Given the description of an element on the screen output the (x, y) to click on. 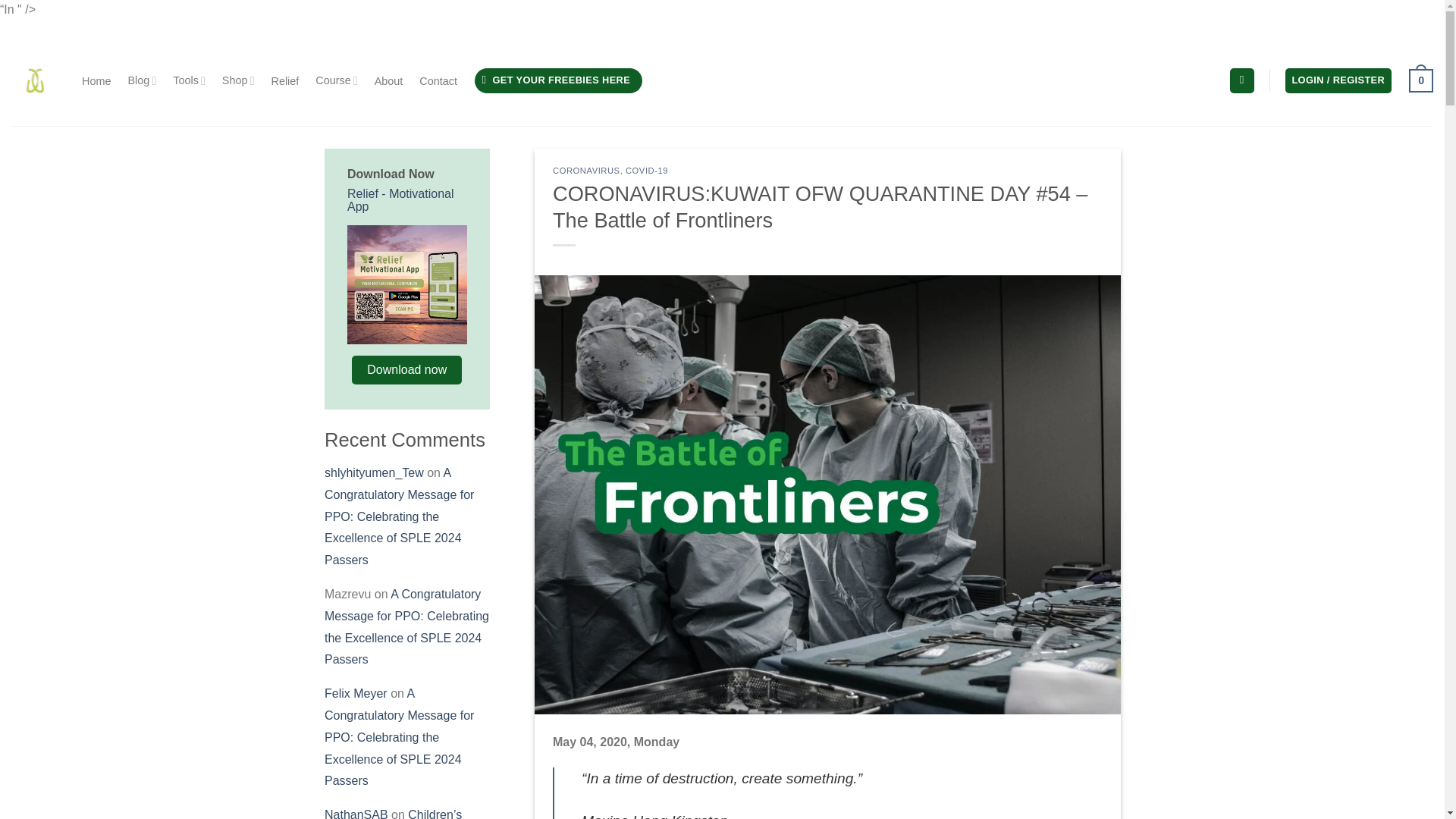
Relief (284, 80)
Course (335, 80)
About (388, 80)
Diary Ni Gracia (35, 80)
Contact (438, 80)
Keep touch with us by subscribe to our newsletter. (558, 80)
Tools (189, 80)
Shop (238, 80)
Blog (141, 80)
Home (95, 80)
